Given the description of an element on the screen output the (x, y) to click on. 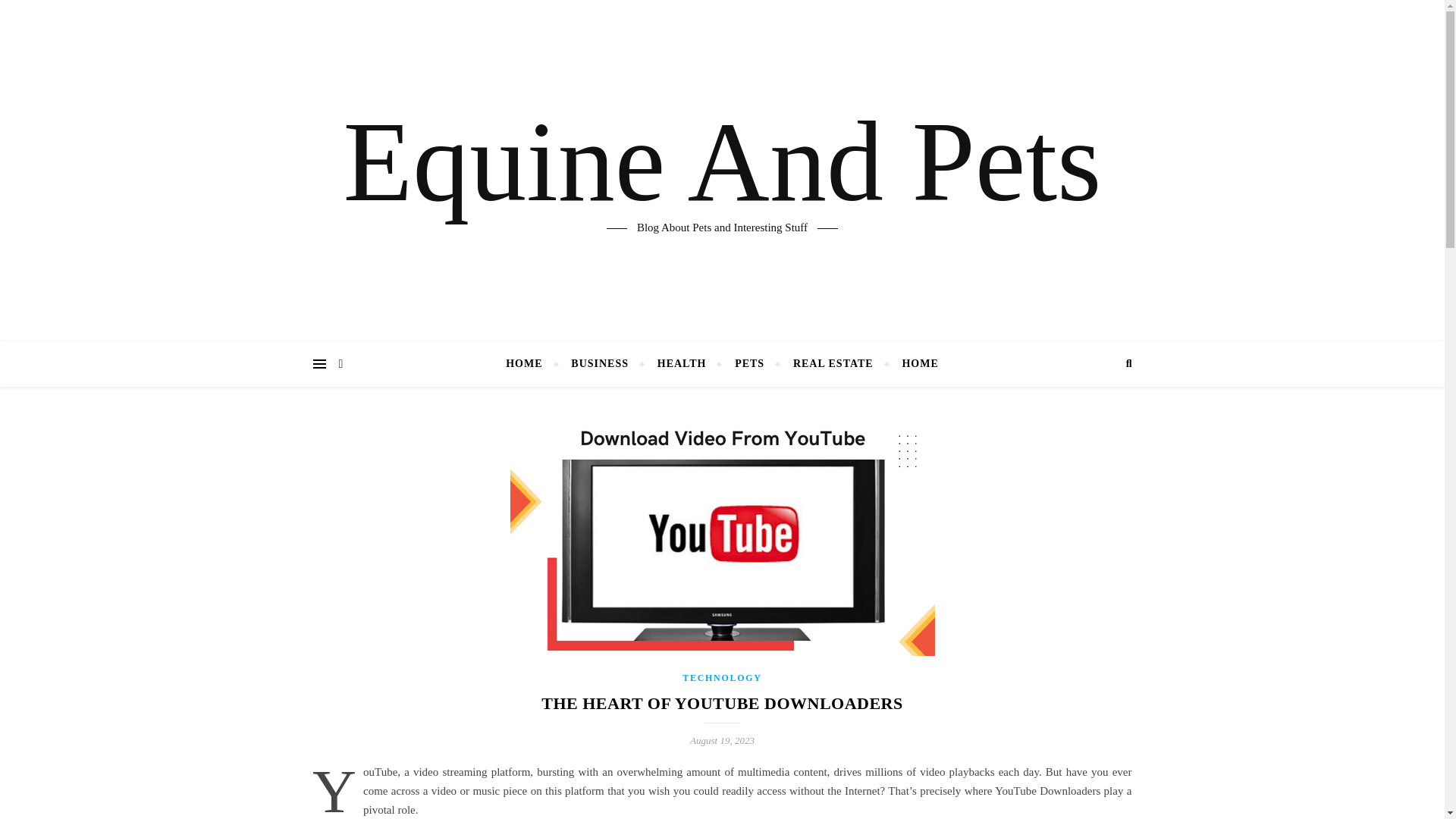
PETS (749, 363)
HEALTH (682, 363)
REAL ESTATE (833, 363)
HOME (529, 363)
BUSINESS (599, 363)
HOME (912, 363)
TECHNOLOGY (721, 677)
